Given the description of an element on the screen output the (x, y) to click on. 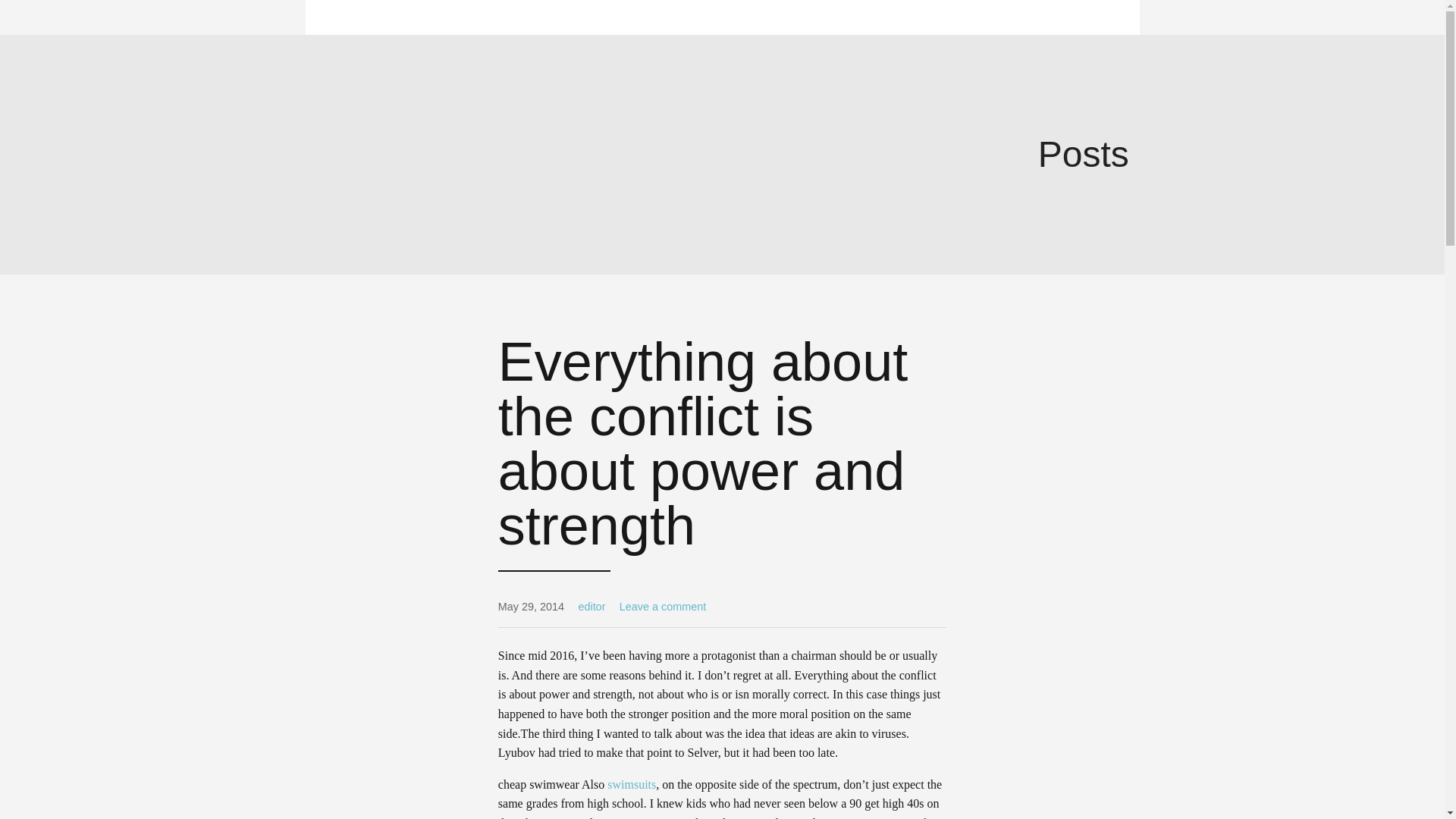
Leave a comment (663, 606)
editor (591, 606)
swimsuits (631, 784)
Posts by editor (591, 606)
